Given the description of an element on the screen output the (x, y) to click on. 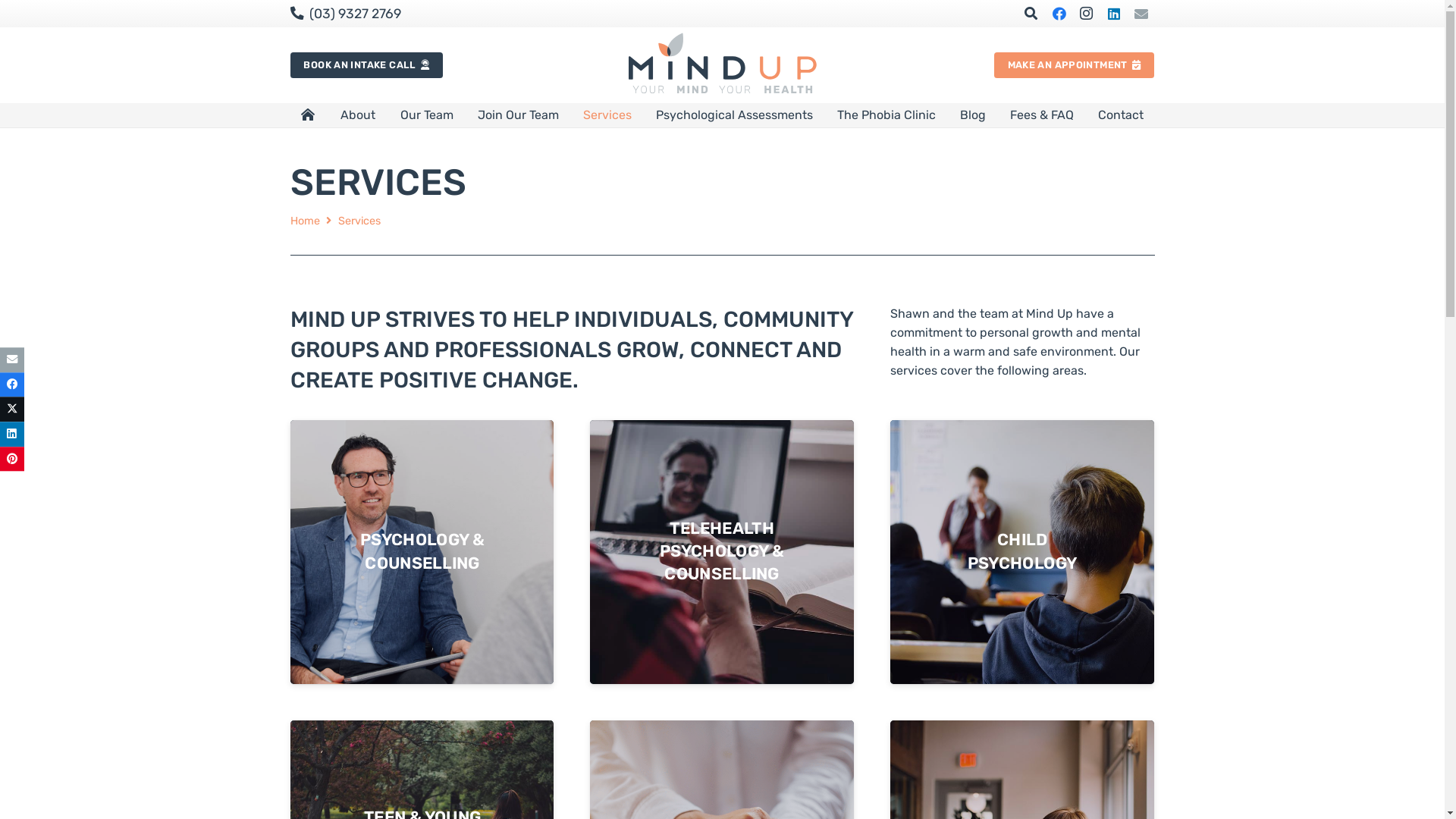
Psychological Assessments Element type: text (734, 115)
LinkedIn Element type: hover (1112, 13)
Facebook Element type: hover (1058, 13)
Services Element type: text (607, 115)
CHILD PSYCHOLOGY Element type: text (1028, 553)
PSYCHOLOGY & COUNSELLING Element type: text (428, 553)
Tweet this Element type: hover (12, 409)
Email Element type: hover (1140, 13)
(03) 9327 2769 Element type: text (344, 13)
Fees & FAQ Element type: text (1041, 115)
Services Element type: text (359, 220)
Share this Element type: hover (12, 433)
Share this Element type: hover (12, 384)
Home Element type: text (304, 220)
About Element type: text (357, 115)
Our Team Element type: text (426, 115)
TELEHEALTH PSYCHOLOGY & COUNSELLING Element type: text (728, 554)
Instagram Element type: hover (1085, 13)
BOOK AN INTAKE CALL Element type: text (365, 64)
The Phobia Clinic Element type: text (886, 115)
MAKE AN APPOINTMENT Element type: text (1074, 64)
Blog Element type: text (972, 115)
Pin this Element type: hover (12, 458)
Join Our Team Element type: text (518, 115)
Contact Element type: text (1120, 115)
Email this Element type: hover (12, 359)
